Given the description of an element on the screen output the (x, y) to click on. 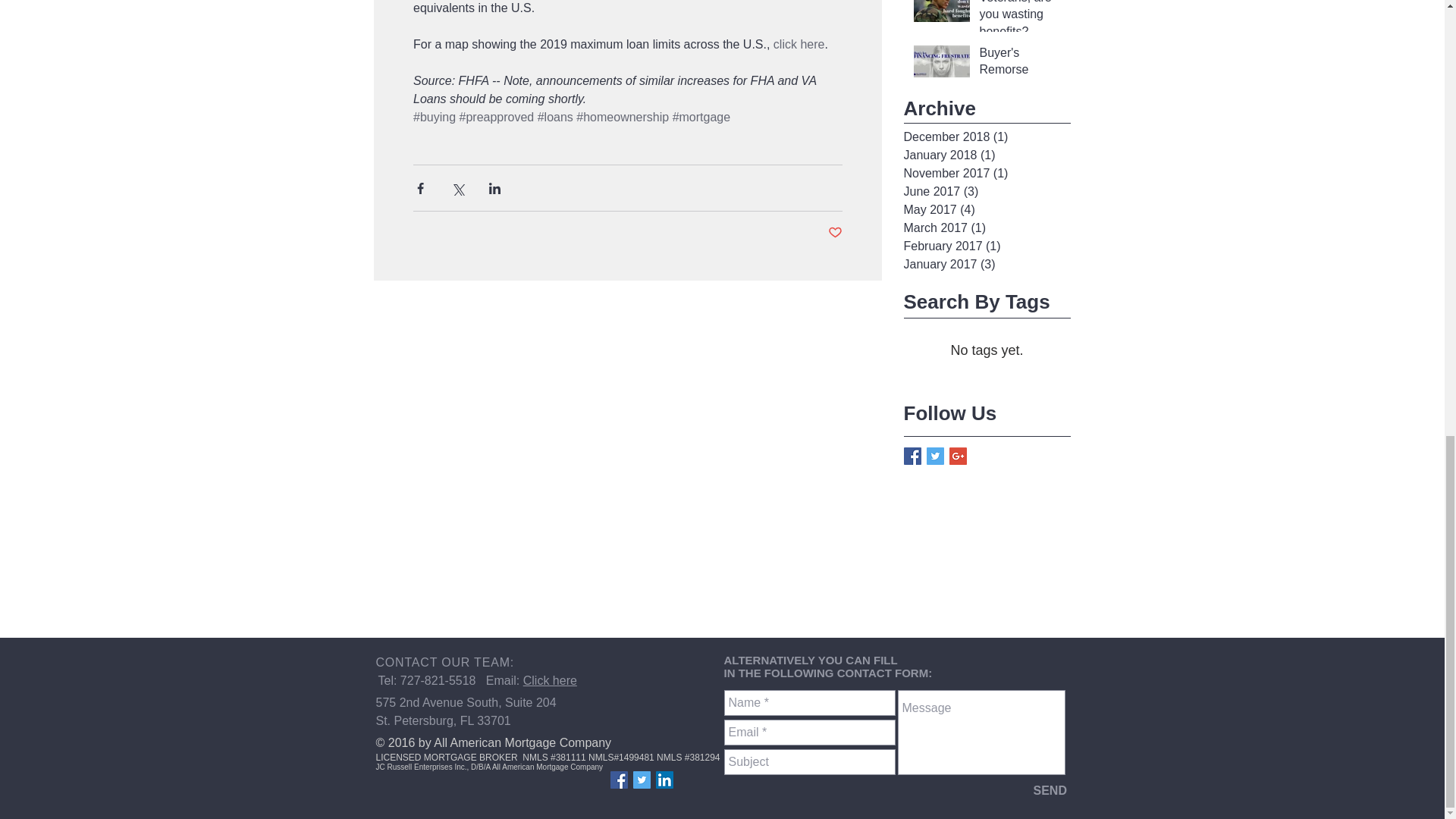
Post not marked as liked (835, 232)
Veterans, are you wasting benefits? (1020, 22)
click here (798, 43)
Buyer's Remorse (1020, 65)
Facebook Like (472, 786)
